Given the description of an element on the screen output the (x, y) to click on. 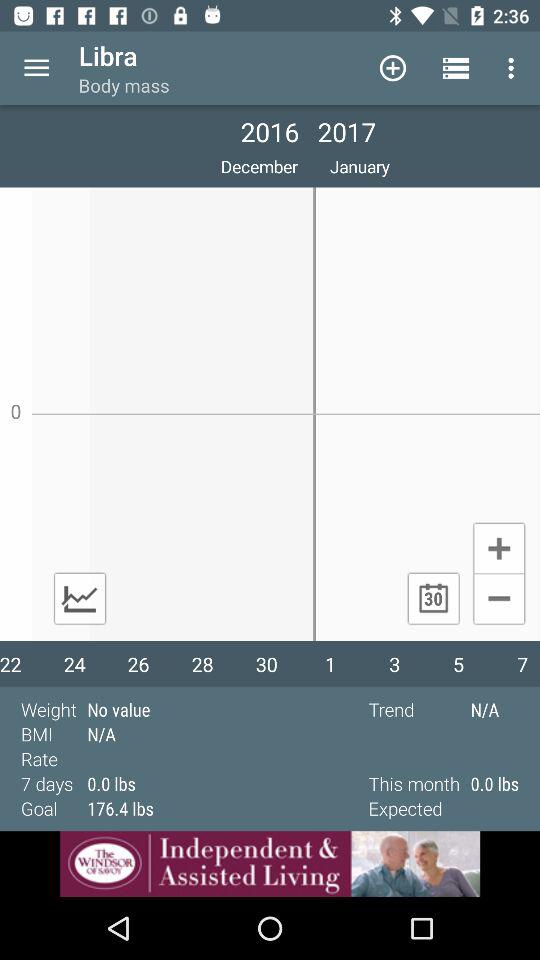
graph mode button (79, 598)
